Given the description of an element on the screen output the (x, y) to click on. 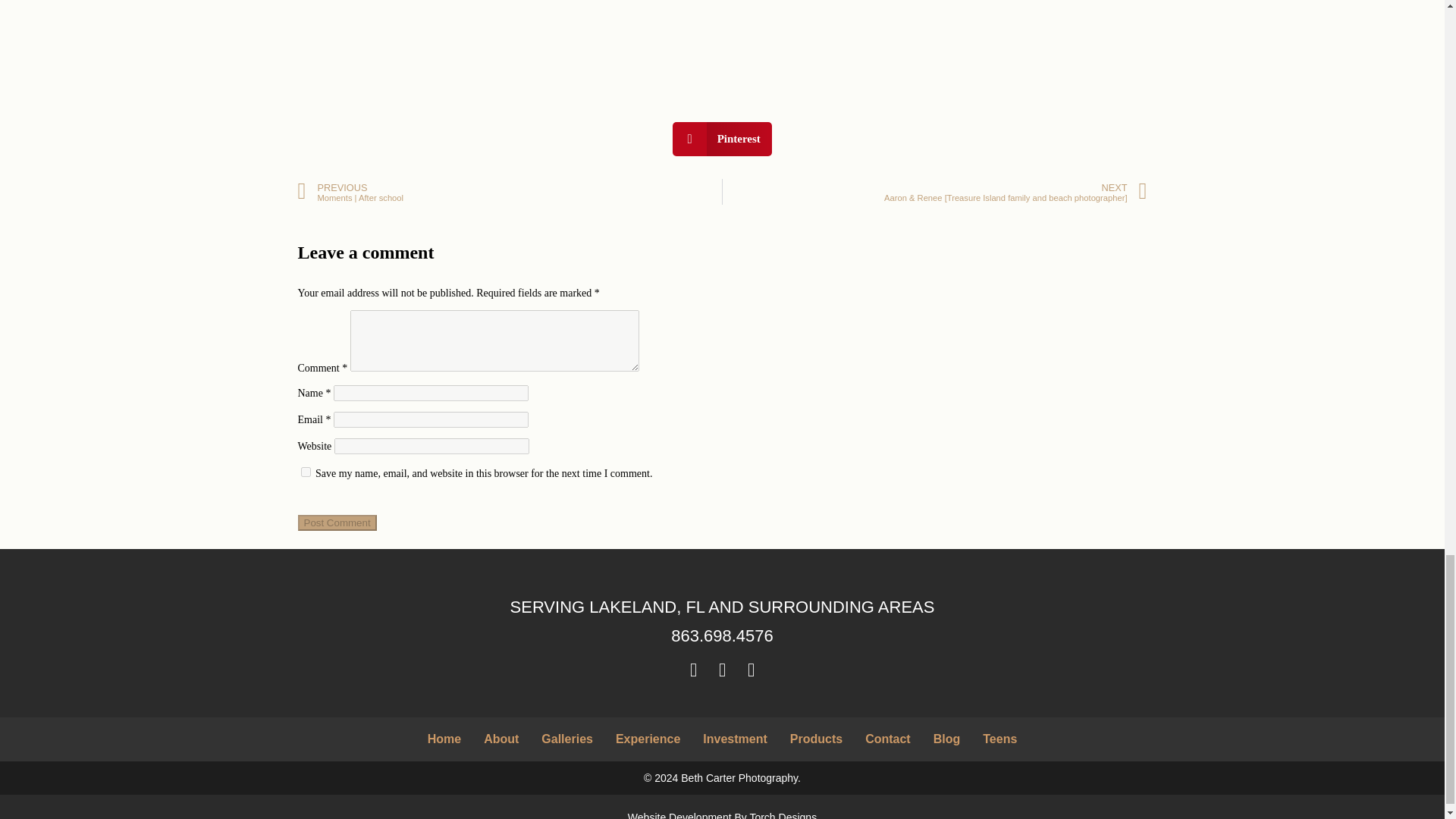
Skinner-19-5x7 (464, 29)
Post Comment (336, 522)
yes (304, 471)
Skinner-22-5x7 (842, 29)
863.698.4576 (722, 635)
Post Comment (336, 522)
